Given the description of an element on the screen output the (x, y) to click on. 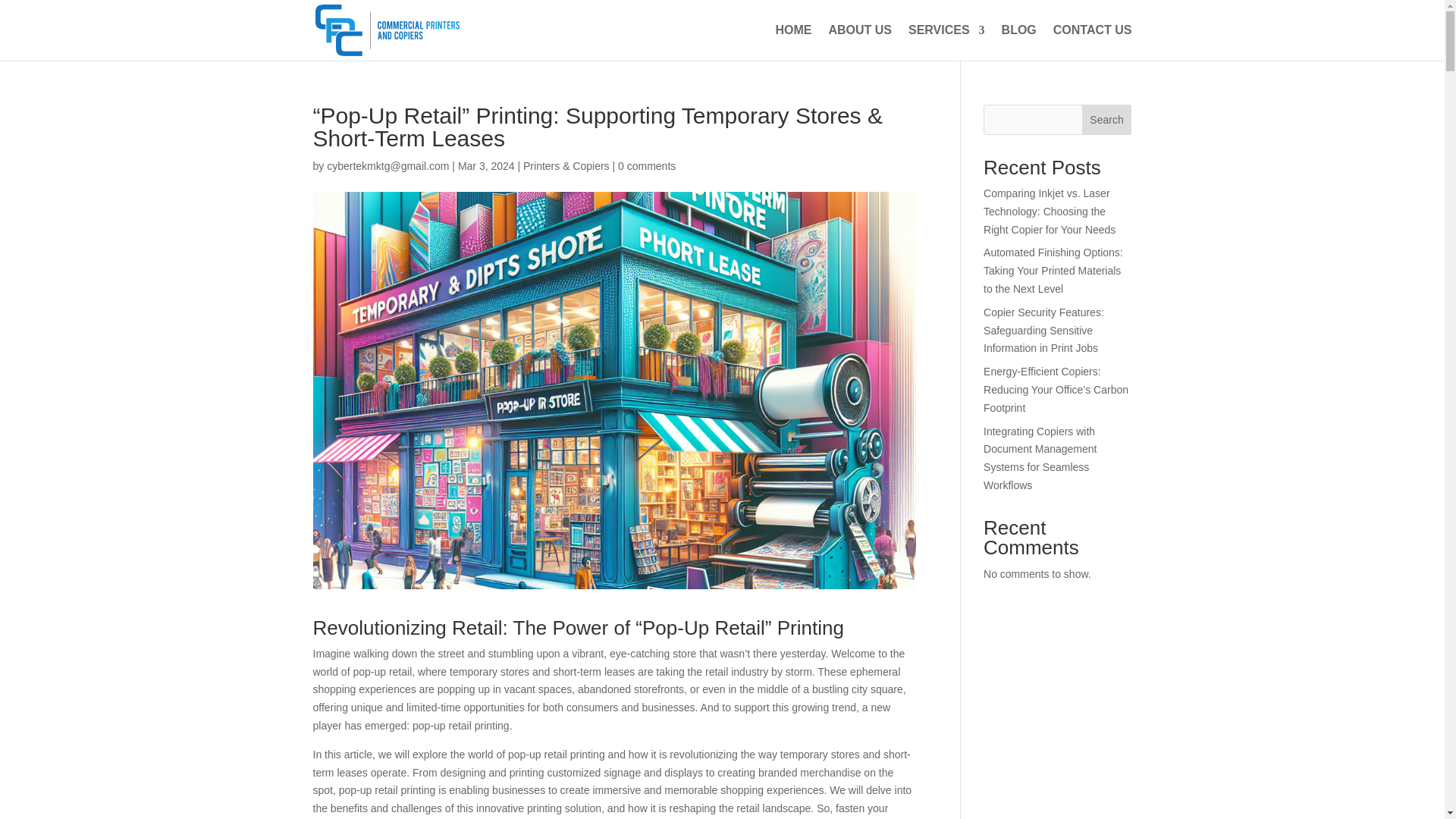
SERVICES (946, 42)
ABOUT US (859, 42)
CONTACT US (1092, 42)
HOME (792, 42)
BLOG (1018, 42)
Search (1106, 119)
0 comments (646, 165)
